Given the description of an element on the screen output the (x, y) to click on. 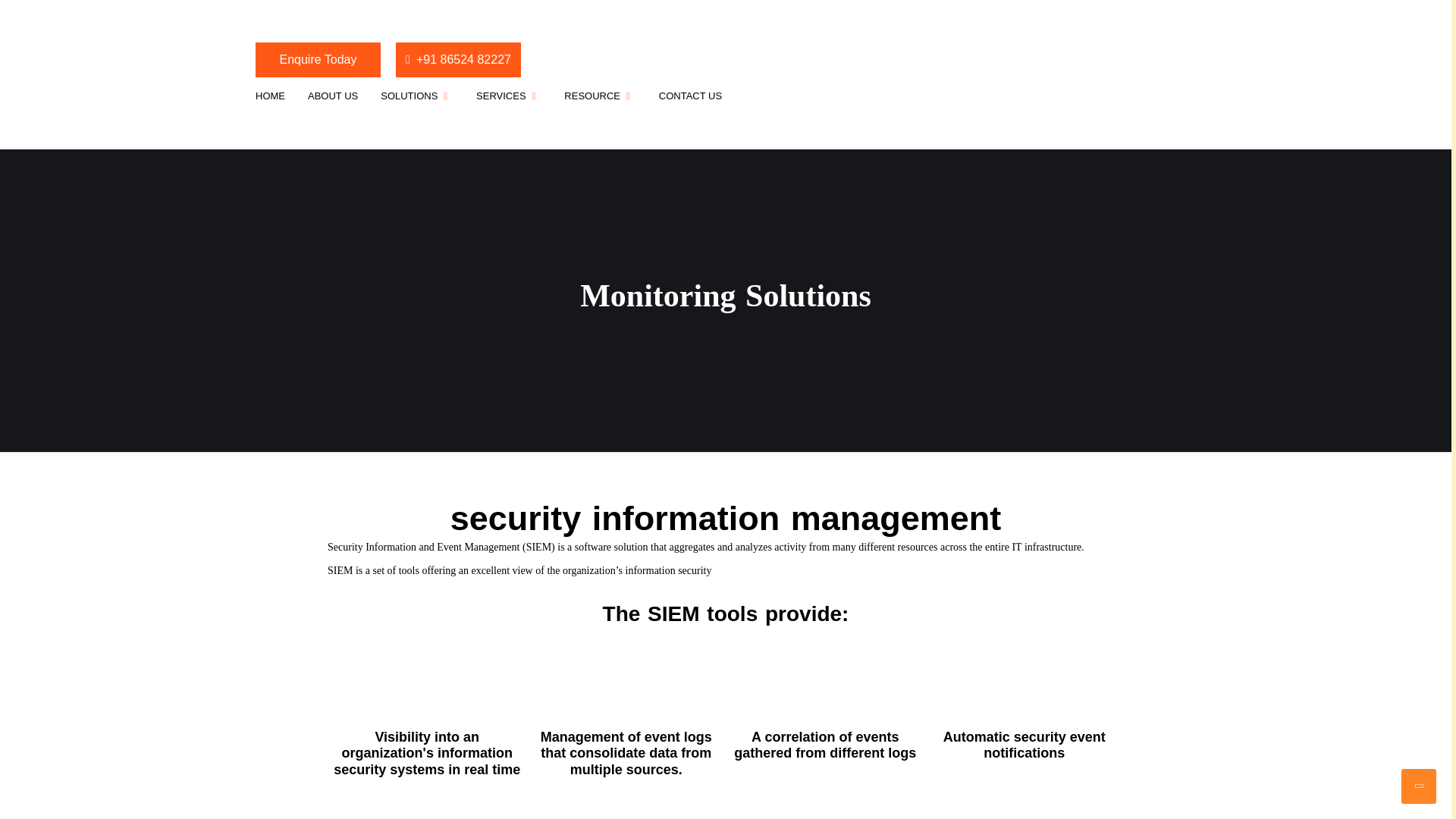
ABOUT US (333, 95)
HOME (270, 95)
Enquire Today (318, 59)
SOLUTIONS (416, 95)
